Given the description of an element on the screen output the (x, y) to click on. 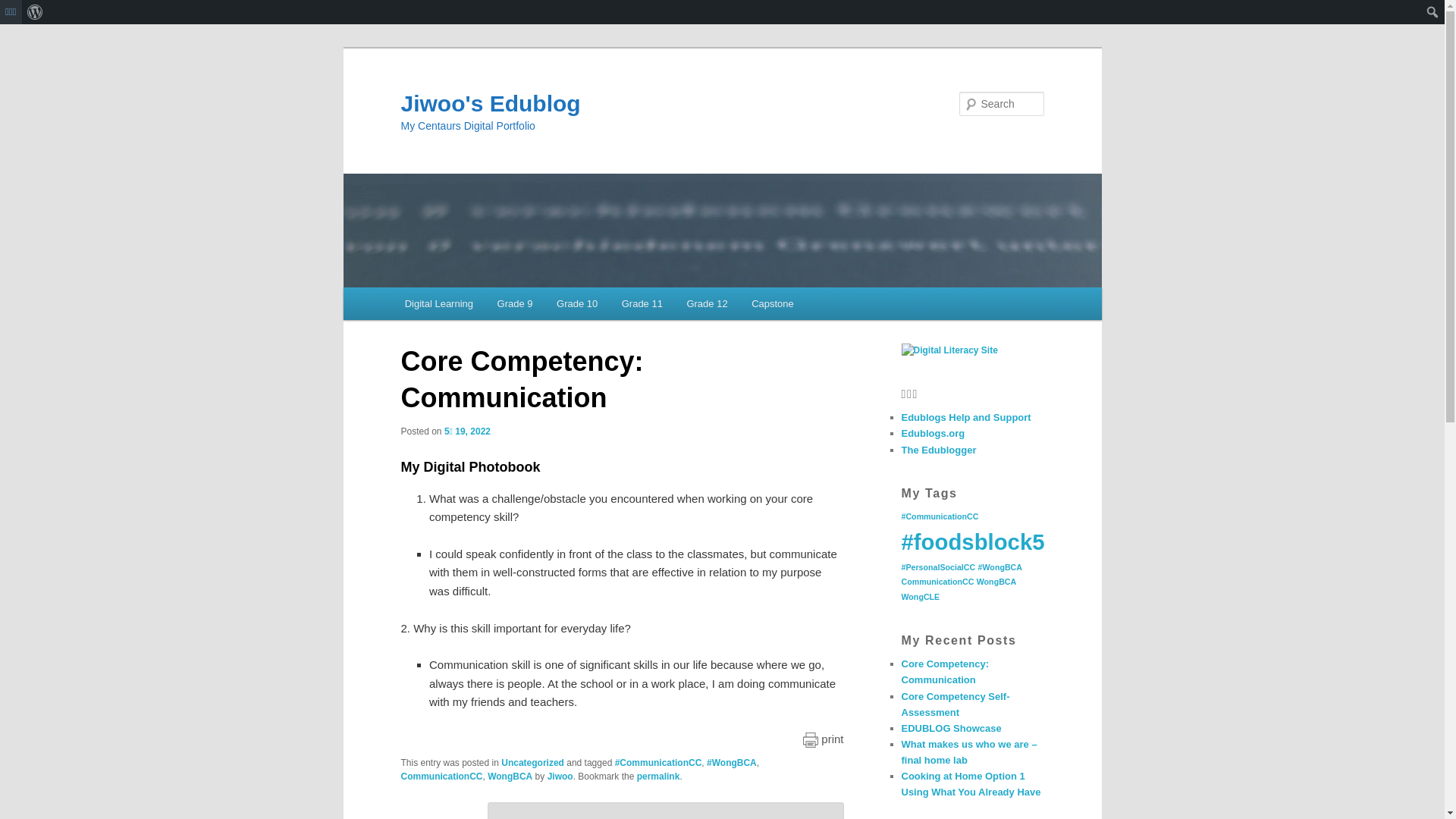
#WongBCA Element type: text (731, 762)
Grade 10 Element type: text (576, 303)
Core Competency: Communication Element type: text (944, 671)
#WongBCA Element type: text (1000, 566)
#CommunicationCC Element type: text (939, 515)
CommunicationCC Element type: text (936, 581)
Grade 12 Element type: text (707, 303)
permalink Element type: text (658, 776)
#CommunicationCC Element type: text (658, 762)
WongBCA Element type: text (509, 776)
Capstone Element type: text (772, 303)
Jiwoo's Edublog Element type: text (490, 103)
Skip to primary content Element type: text (472, 306)
Core Competency Self-Assessment Element type: text (954, 704)
Uncategorized Element type: text (532, 762)
CommunicationCC Element type: text (441, 776)
#foodsblock5 Element type: text (972, 541)
WongBCA Element type: text (996, 581)
Search Element type: text (24, 8)
Edublogs.org Element type: text (932, 433)
The Edublogger Element type: text (937, 449)
Cooking at Home Option 1 Using What You Already Have Element type: text (970, 783)
Grade 11 Element type: text (641, 303)
WongCLE Element type: text (919, 596)
#PersonalSocialCC Element type: text (937, 566)
EDUBLOG Showcase Element type: text (950, 728)
Grade 9 Element type: text (514, 303)
Edublogs Help and Support Element type: text (965, 417)
Jiwoo Element type: text (560, 776)
Digital Learning Element type: text (438, 303)
